Given the description of an element on the screen output the (x, y) to click on. 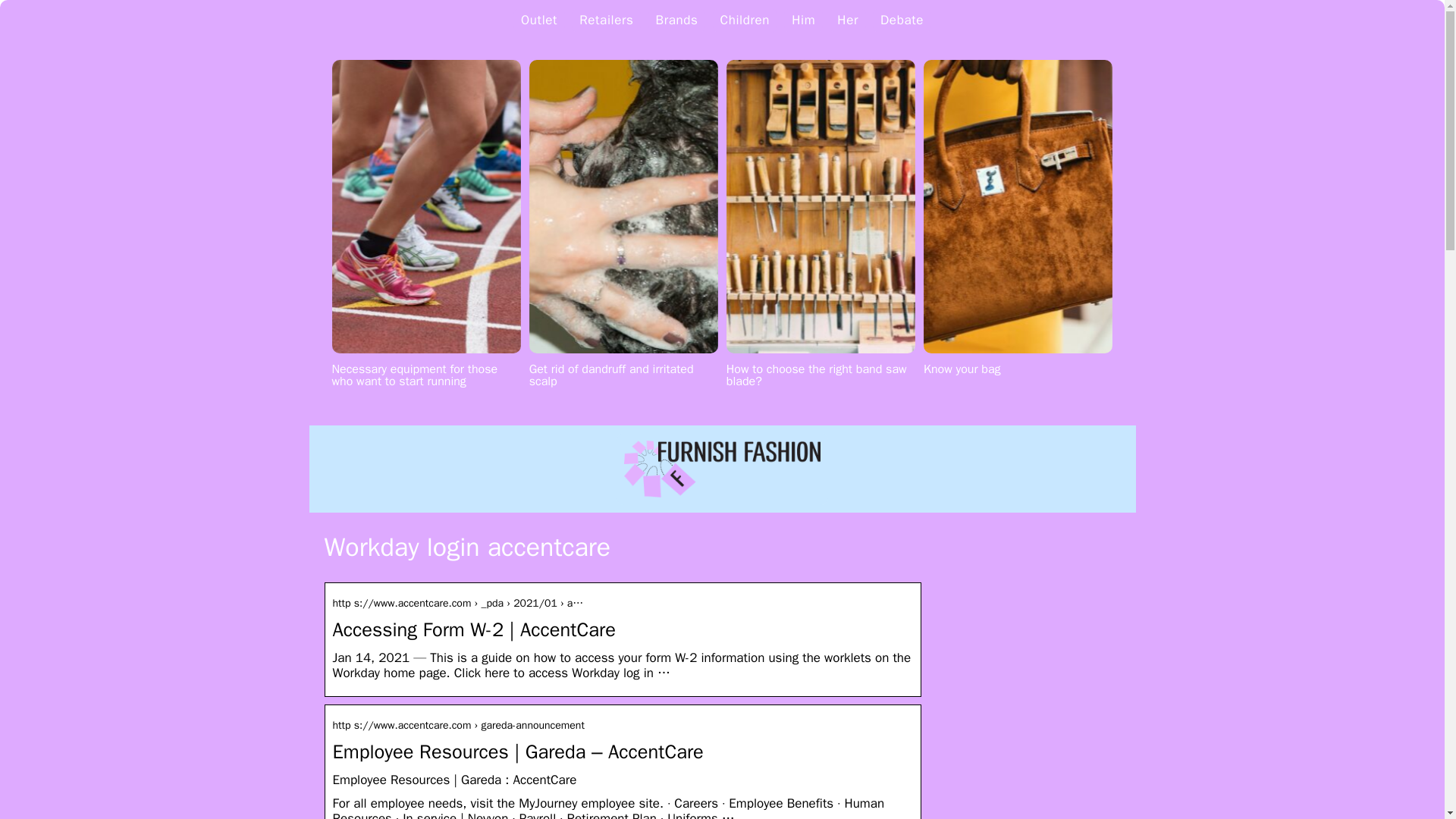
Children (745, 19)
Her (848, 19)
Retailers (606, 19)
Outlet (539, 19)
Him (803, 19)
Debate (901, 19)
Brands (677, 19)
